Given the description of an element on the screen output the (x, y) to click on. 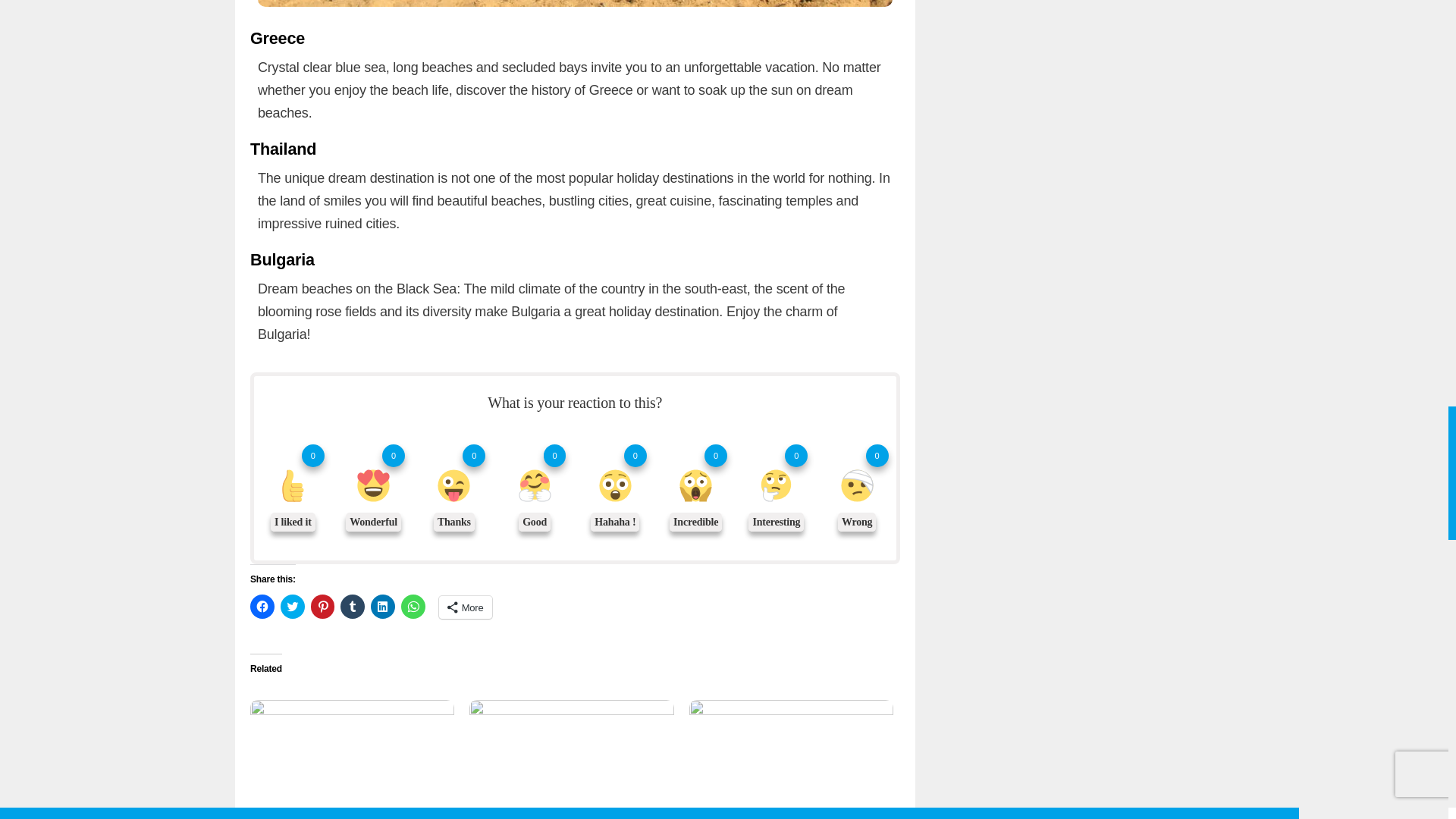
Click to share on Twitter (292, 606)
The Popular Travel Destinations In The World (790, 758)
The Great Hope For Summer Travel Destinations (352, 758)
Click to share on Tumblr (352, 606)
2 Travel Destinations That Are Suitable For Families In 2021 (570, 758)
Click to share on Facebook (262, 606)
Click to share on Pinterest (322, 606)
Click to share on WhatsApp (413, 606)
Click to share on LinkedIn (382, 606)
